Given the description of an element on the screen output the (x, y) to click on. 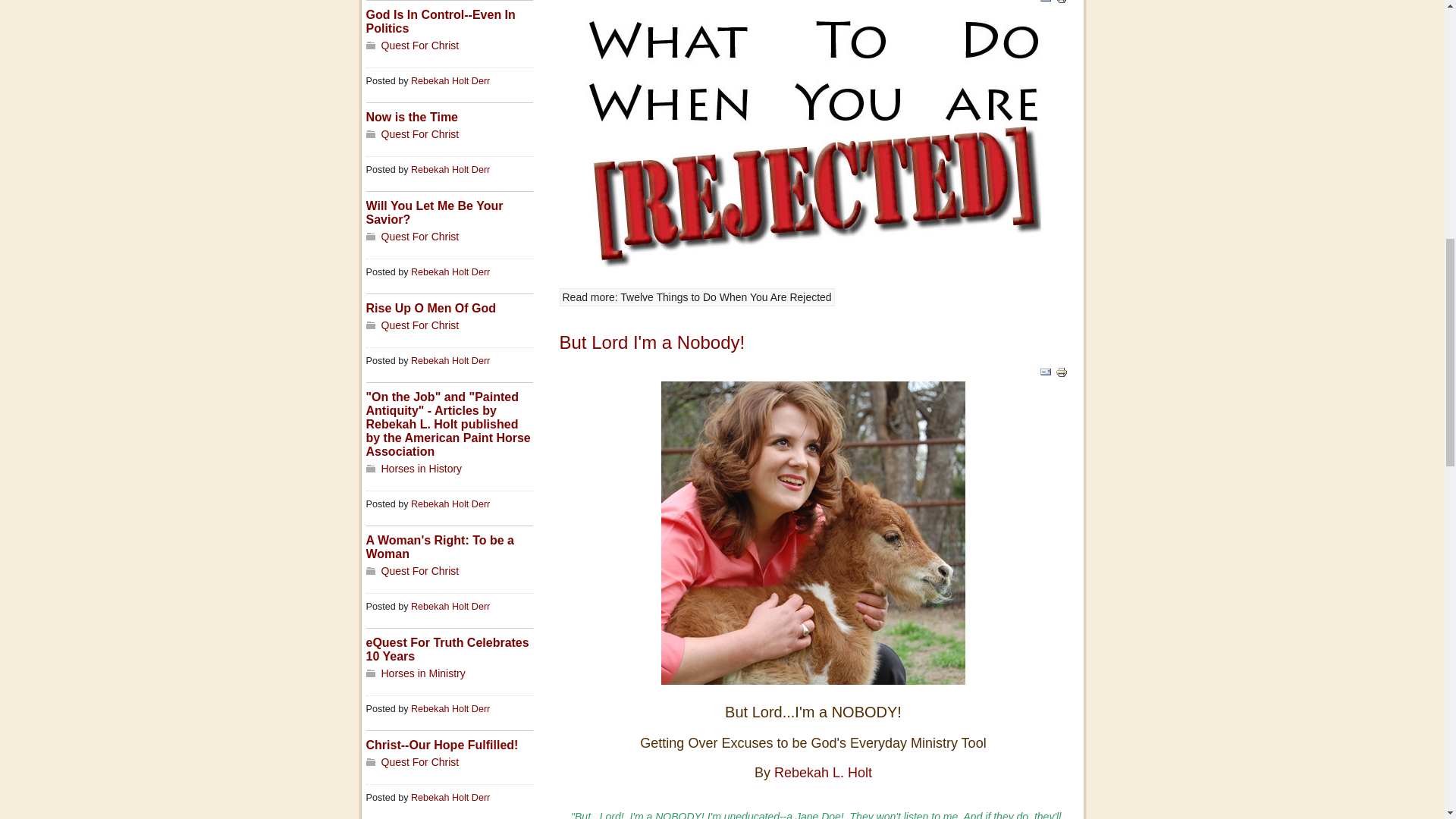
Rebekah Holt Derr (449, 81)
Will You Let Me Be Your Savior? (433, 212)
Rise Up O Men Of God (430, 308)
Quest For Christ (419, 133)
Rebekah Holt Derr (449, 169)
Now is the Time (411, 116)
God Is In Control--Even In Politics (440, 21)
Quest For Christ (419, 325)
Rebekah Holt Derr (449, 360)
Rebekah Holt Derr (449, 271)
